Given the description of an element on the screen output the (x, y) to click on. 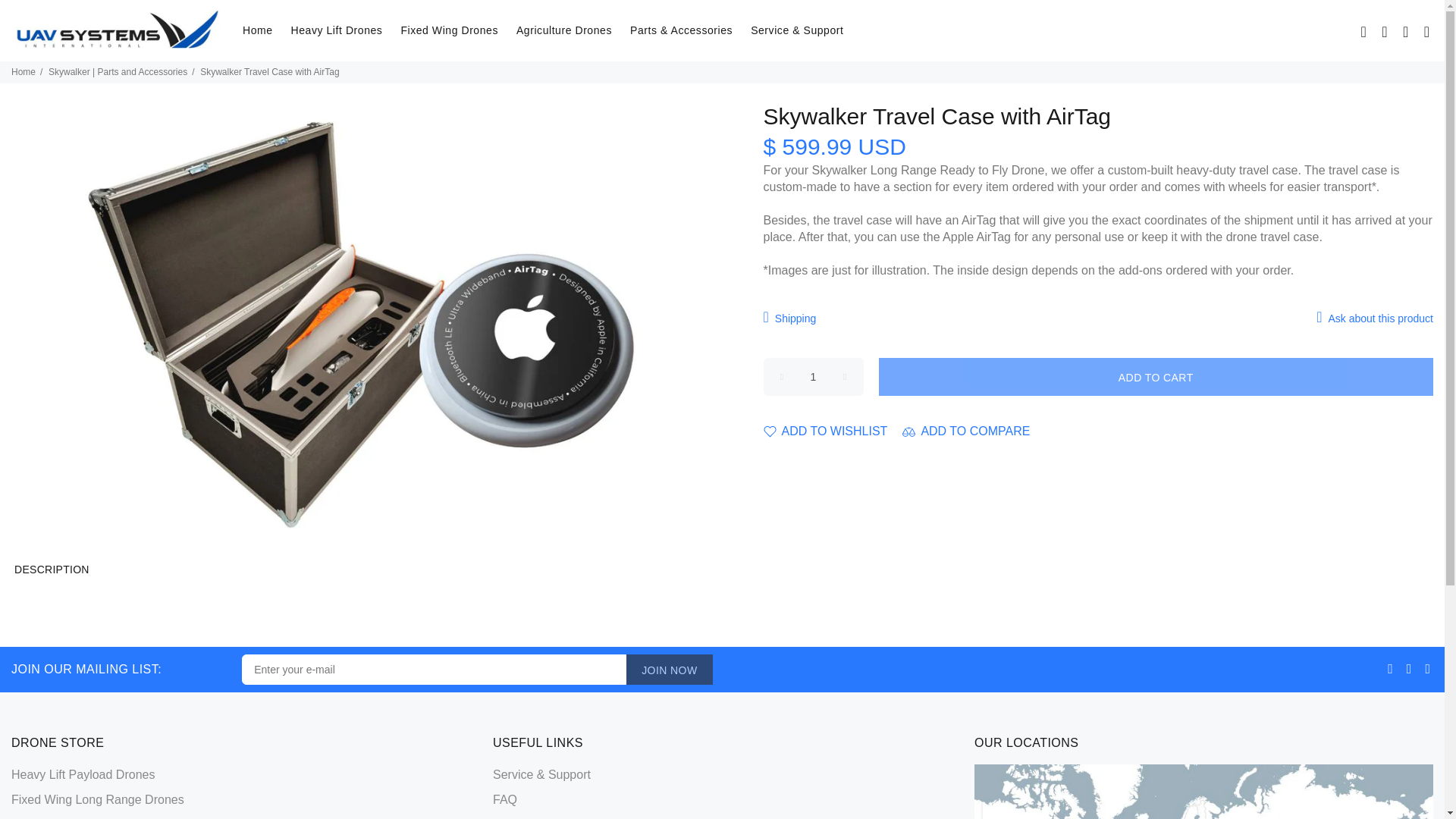
Home (22, 71)
Fixed Wing Drones (448, 30)
Heavy Lift Drones (336, 30)
Agriculture Drones (563, 30)
1 (812, 376)
Home (257, 30)
